Given the description of an element on the screen output the (x, y) to click on. 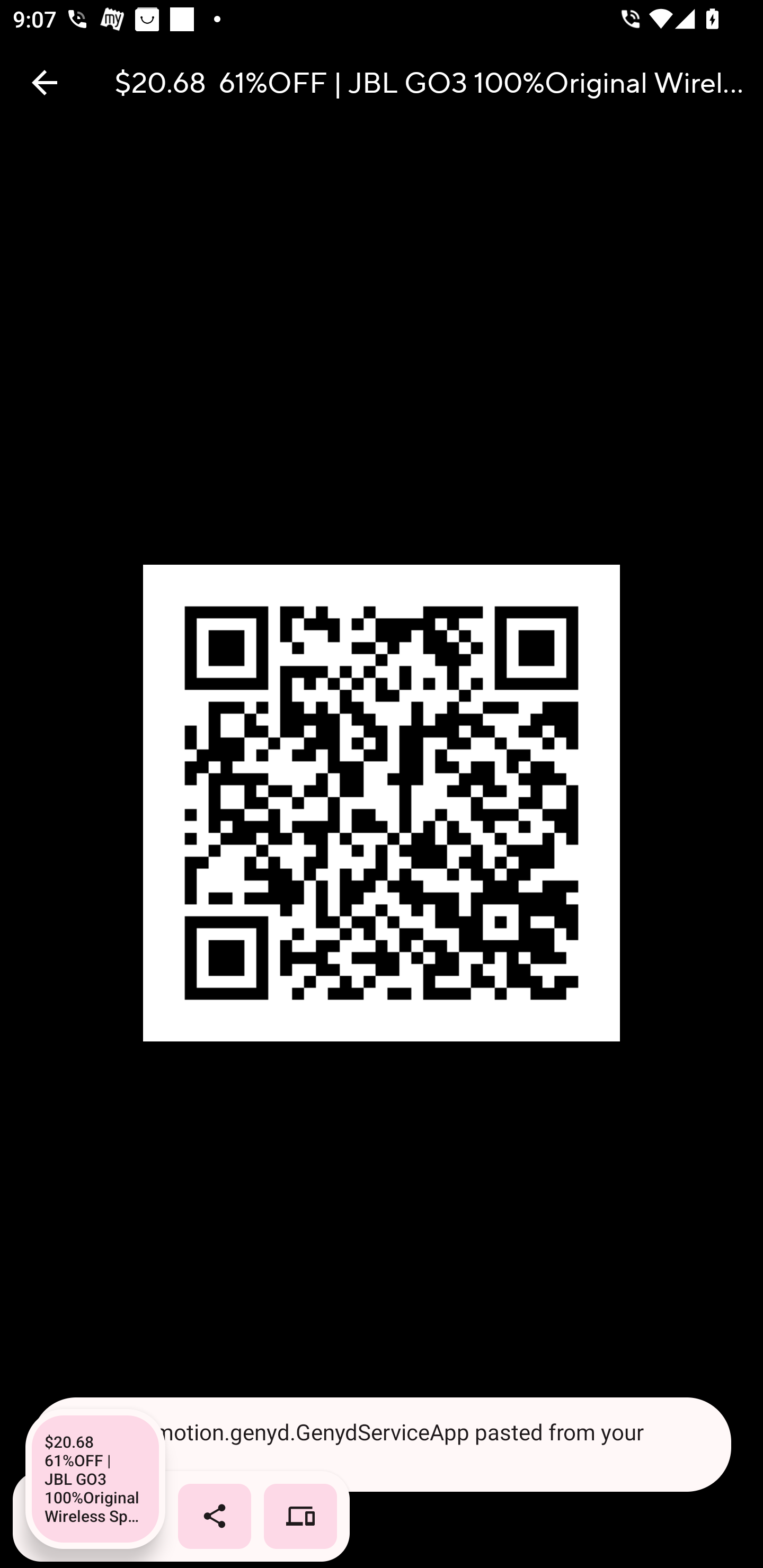
Navigate up (44, 82)
